Given the description of an element on the screen output the (x, y) to click on. 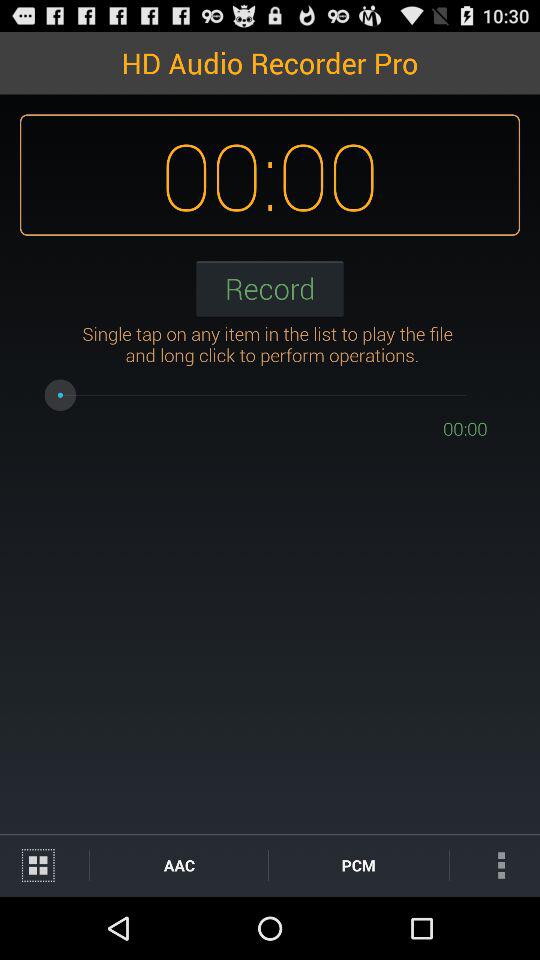
swipe to aac (178, 864)
